Given the description of an element on the screen output the (x, y) to click on. 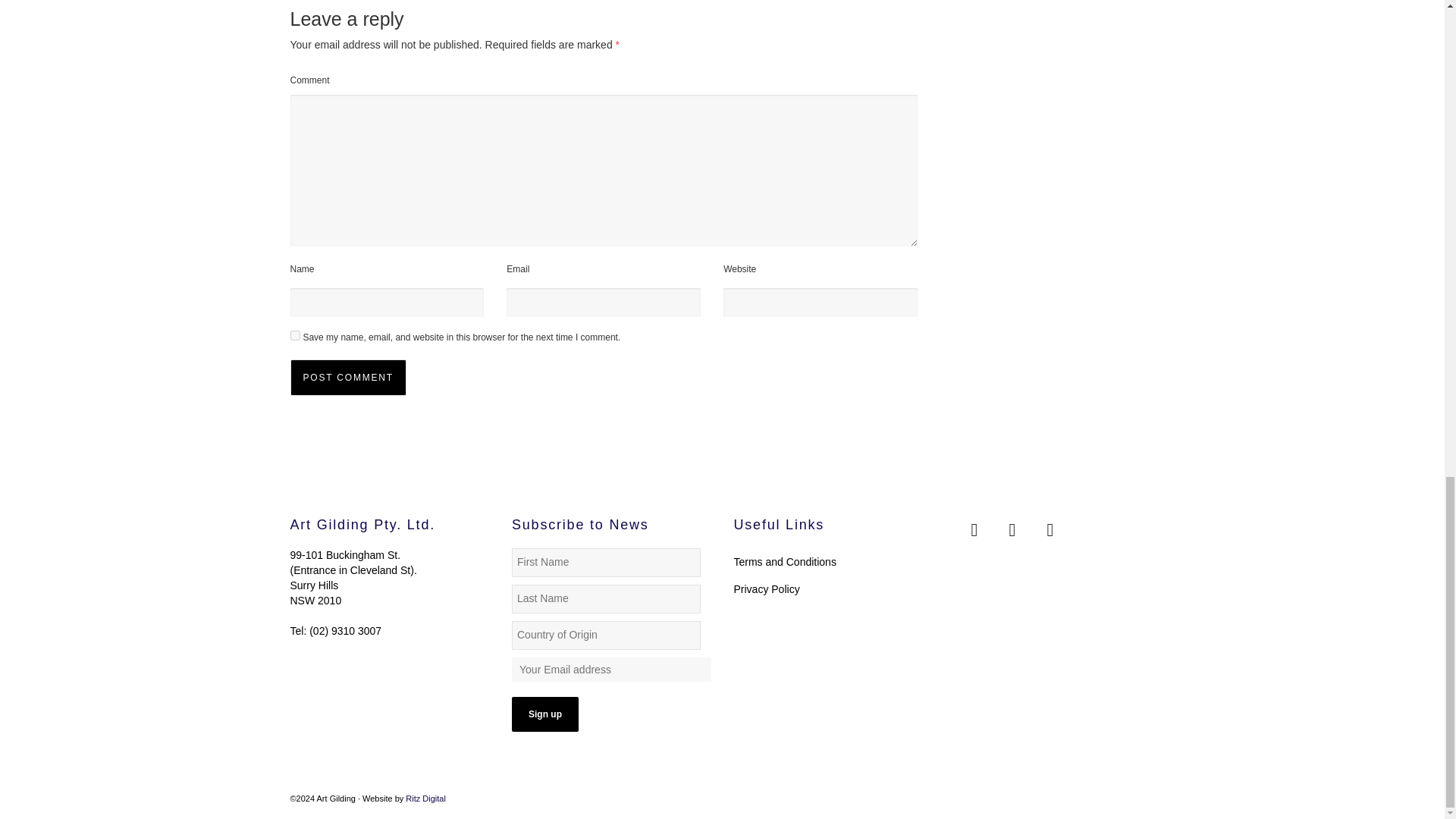
Post comment (347, 377)
Sign up (545, 713)
yes (294, 335)
